Given the description of an element on the screen output the (x, y) to click on. 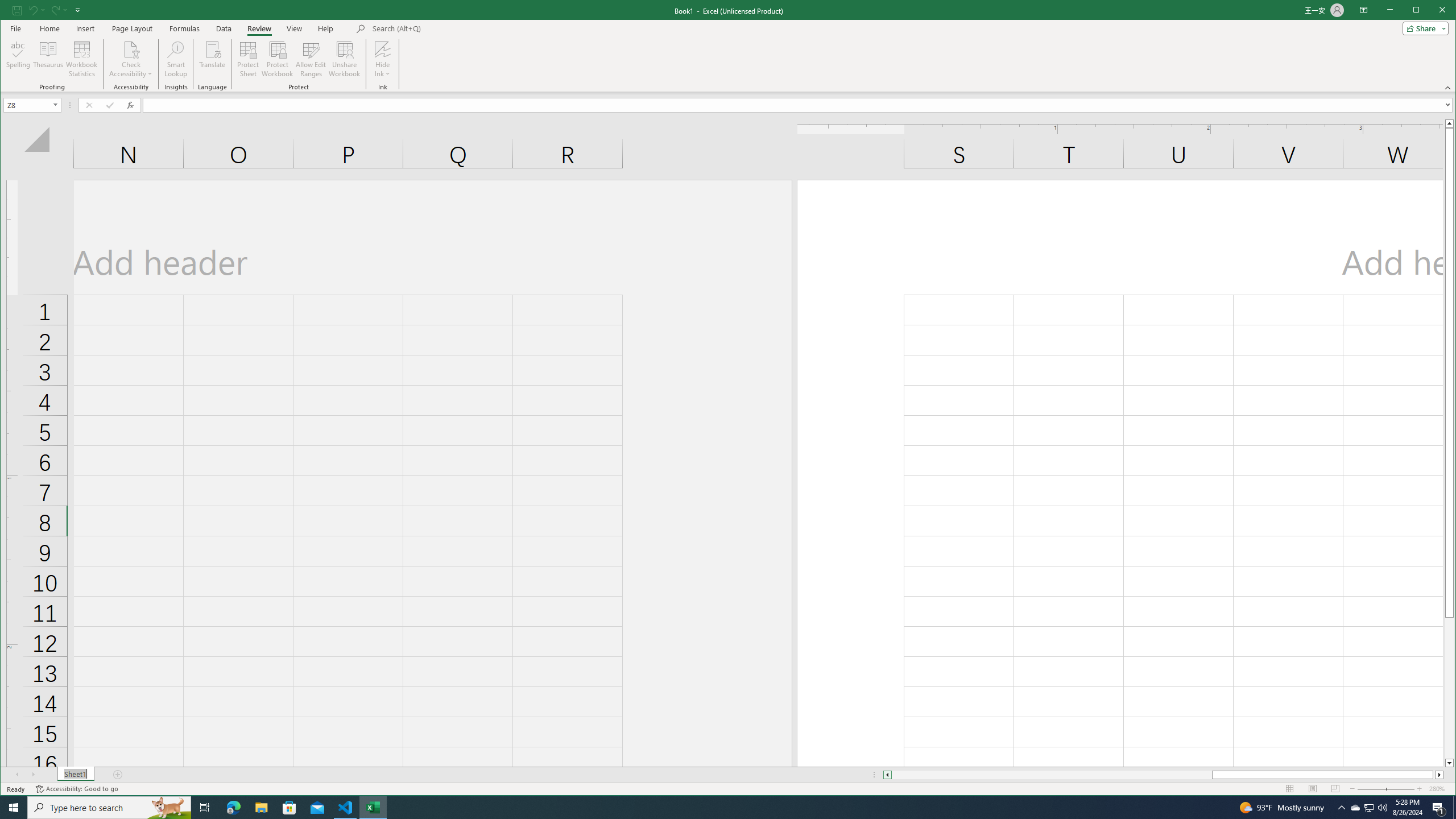
Start (13, 807)
User Promoted Notification Area (1368, 807)
Sheet Tab (1368, 807)
